Given the description of an element on the screen output the (x, y) to click on. 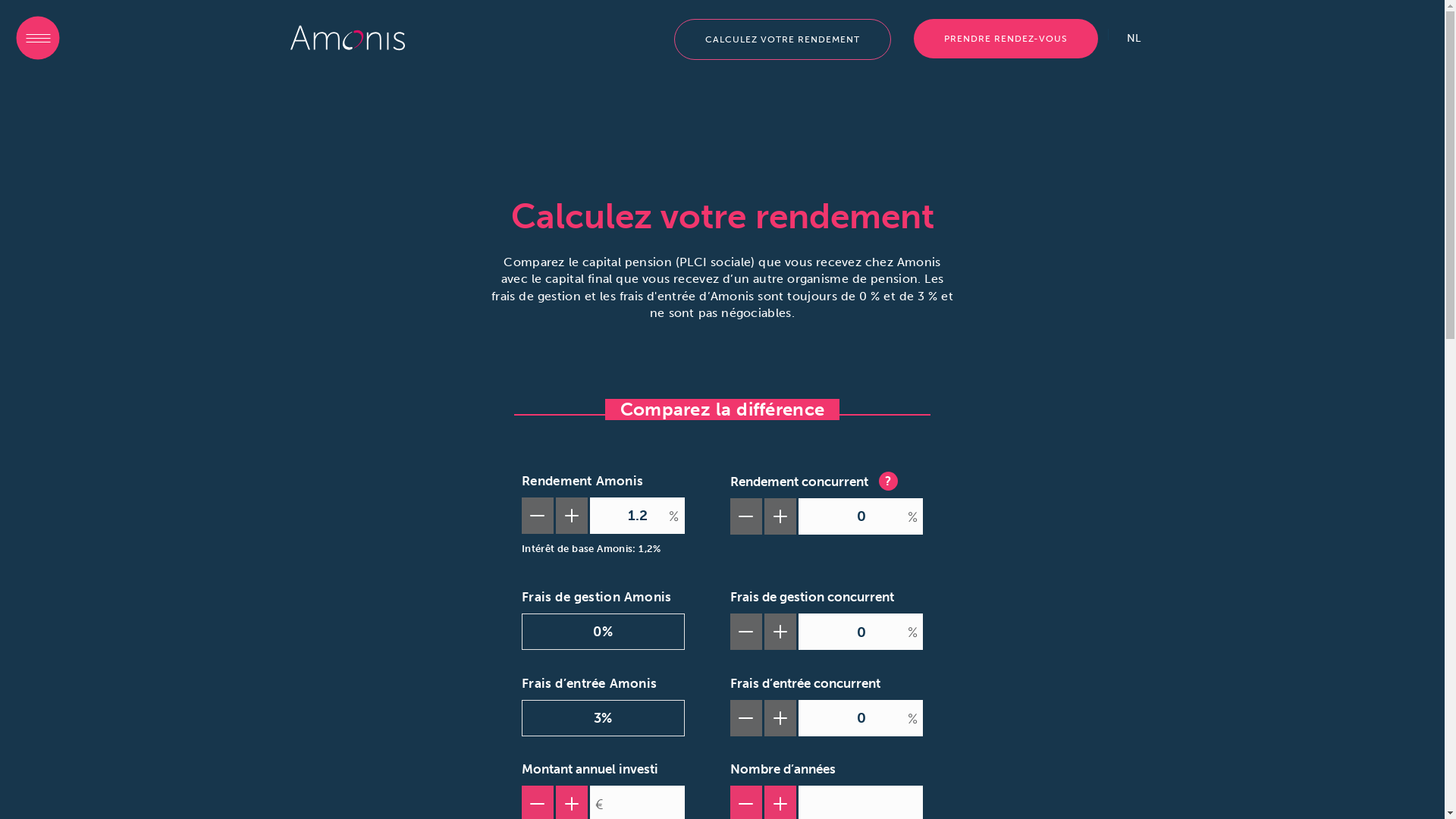
CALCULEZ VOTRE RENDEMENT Element type: text (781, 38)
PRENDRE RENDEZ-VOUS Element type: text (1005, 38)
? Element type: text (887, 480)
NL Element type: text (1133, 38)
